Given the description of an element on the screen output the (x, y) to click on. 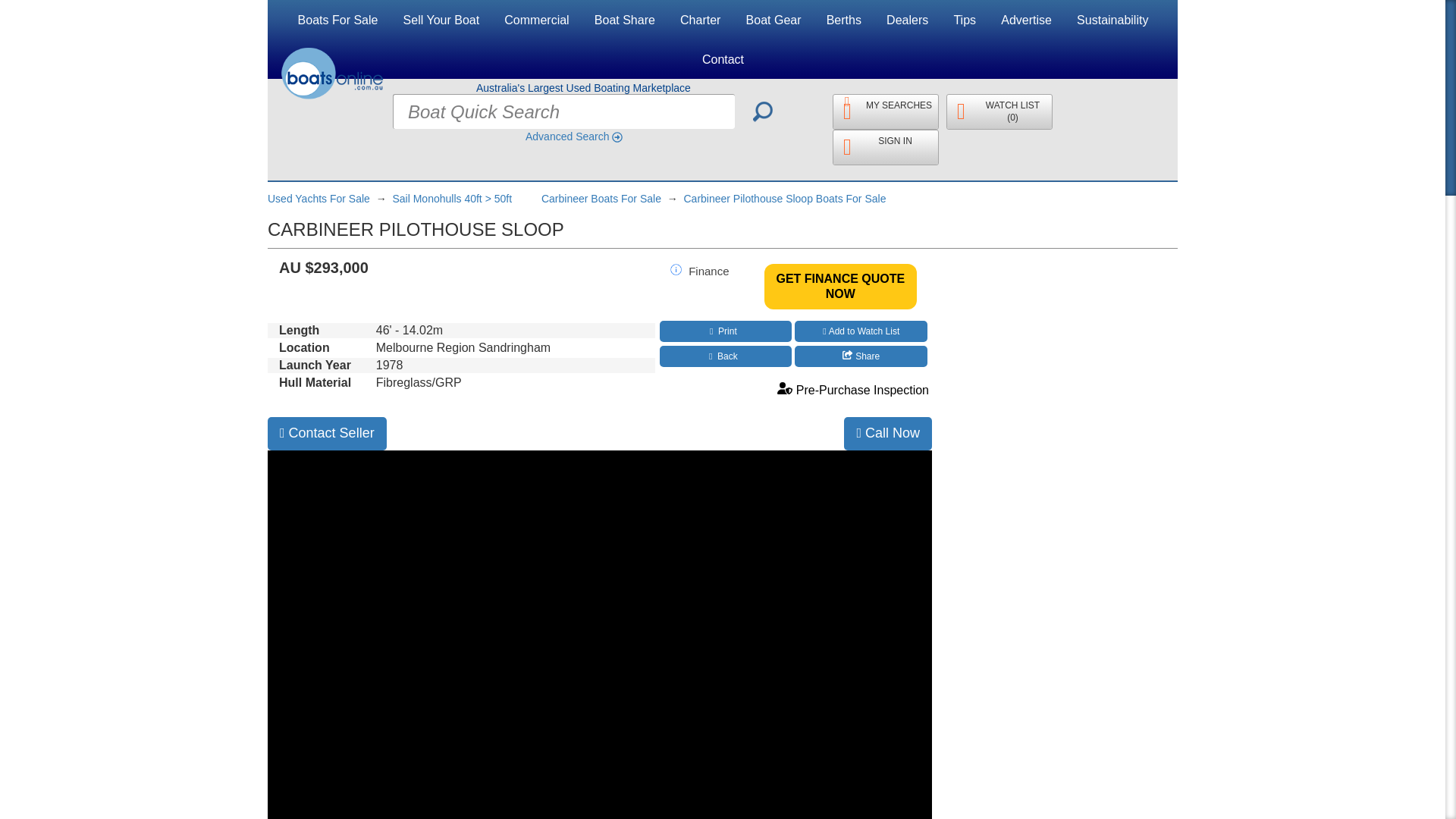
Sell Your Boat (441, 19)
Charter (700, 19)
Keyword Search (762, 111)
Boat Share (624, 19)
Boats For Sale (338, 19)
Commercial (536, 19)
